Given the description of an element on the screen output the (x, y) to click on. 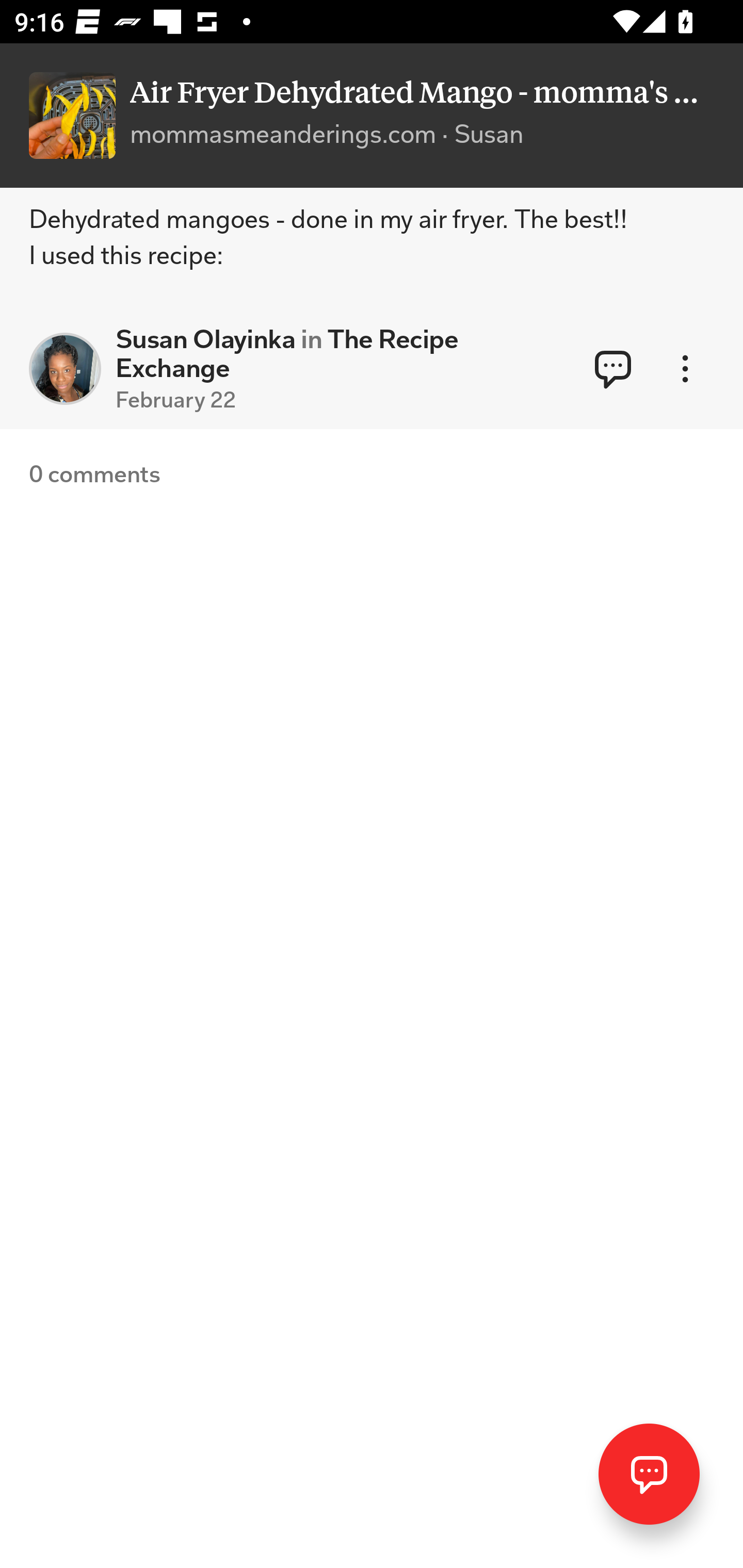
Susan Olayinka (64, 369)
